Given the description of an element on the screen output the (x, y) to click on. 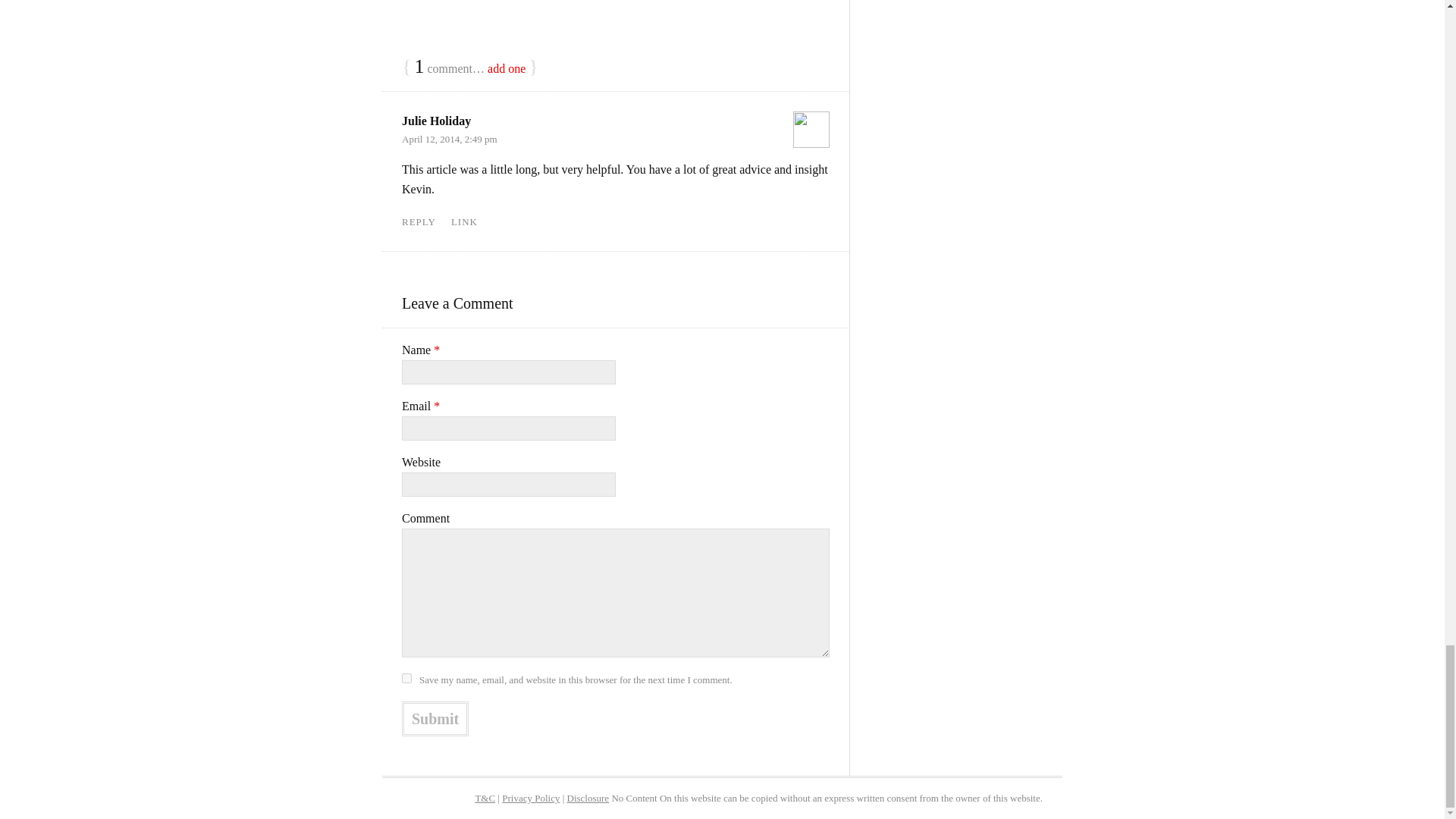
yes (406, 678)
Privacy Policy (530, 797)
add one (506, 68)
LINK (464, 221)
REPLY (418, 221)
permalink to this comment (464, 221)
Submit (434, 718)
Submit (434, 718)
Disclosure (588, 797)
